Given the description of an element on the screen output the (x, y) to click on. 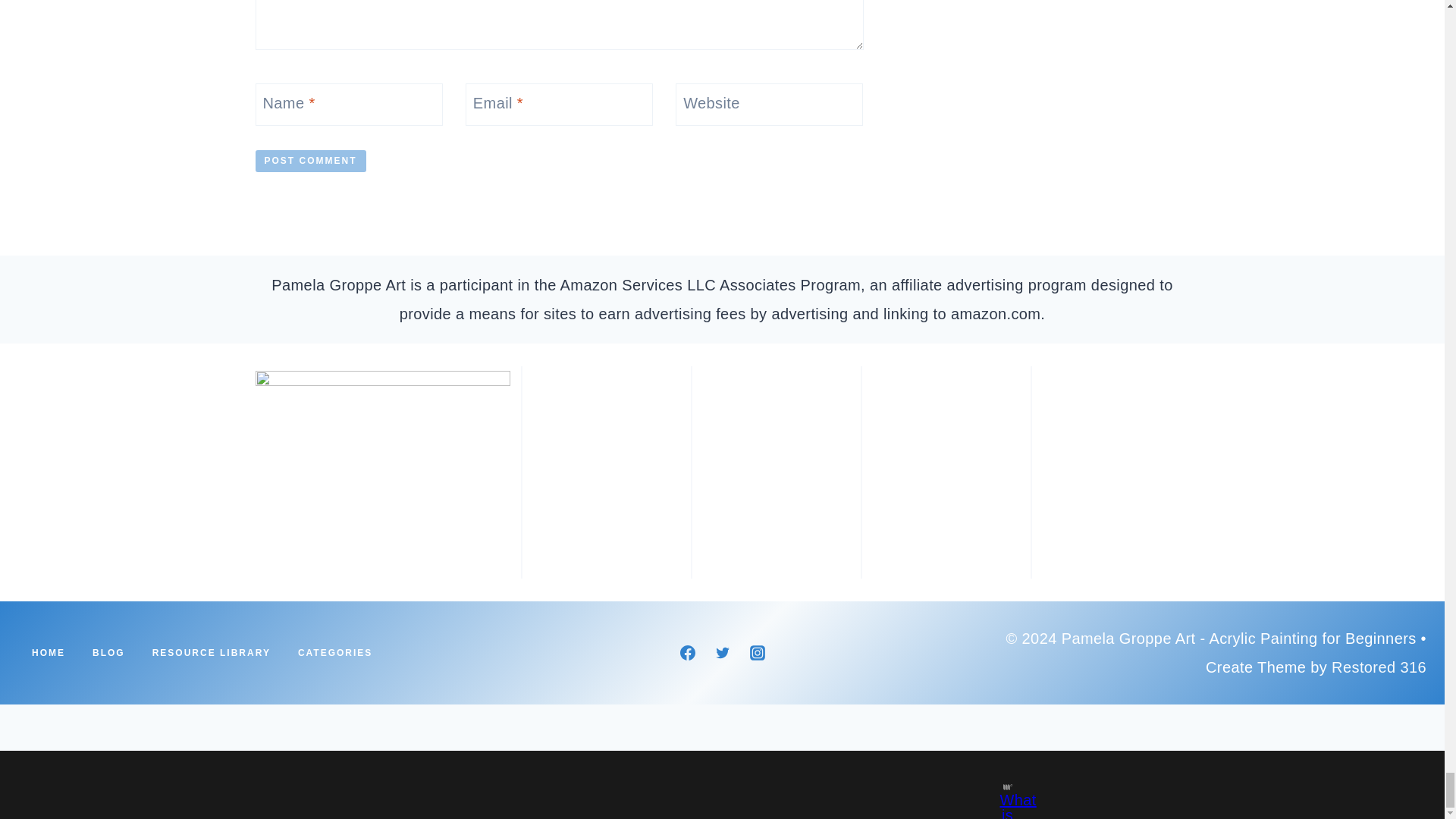
Post Comment (309, 160)
